Given the description of an element on the screen output the (x, y) to click on. 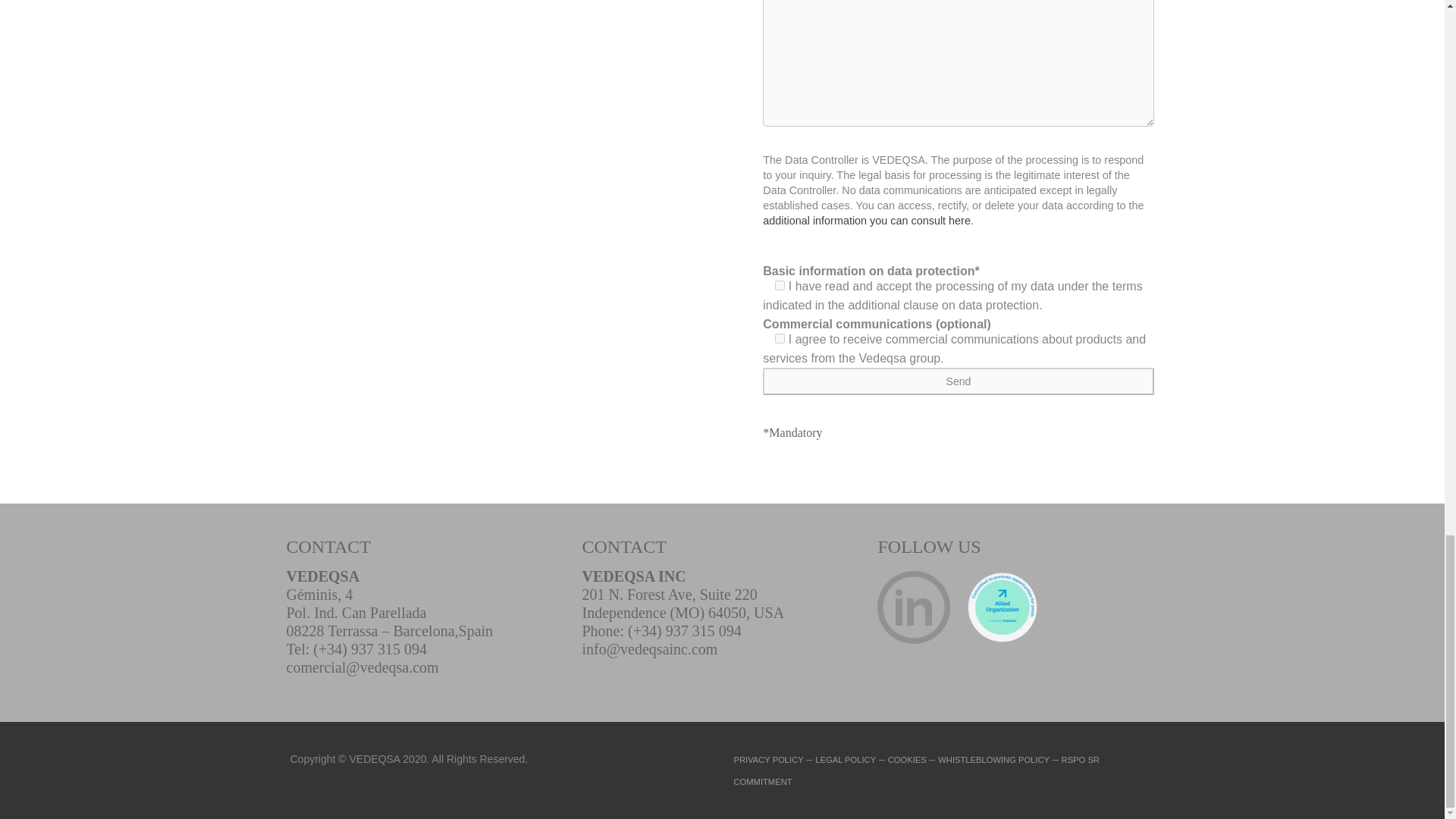
WHISTLEBLOWING POLICY (993, 759)
1 (779, 338)
COOKIES (907, 759)
additional information you can consult here (866, 220)
Send (957, 380)
Send (957, 380)
1 (779, 285)
RSPO SR COMMITMENT (916, 770)
LEGAL POLICY (845, 759)
PRIVACY POLICY (768, 759)
